Given the description of an element on the screen output the (x, y) to click on. 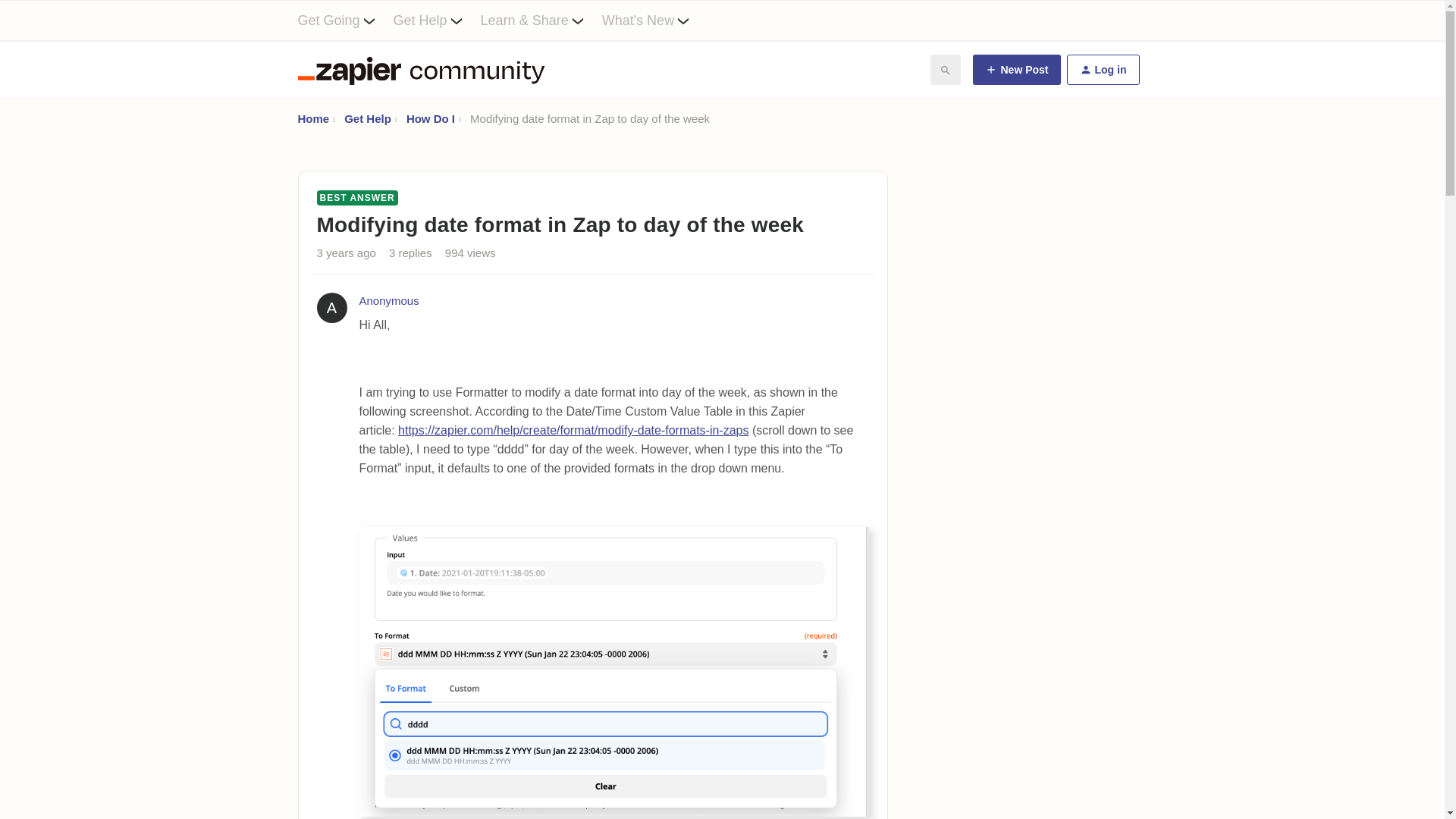
Log in (1101, 69)
Get Help (367, 118)
New Post (1015, 69)
New Post (1015, 69)
What's New (654, 20)
Get Help (436, 20)
Get Going (345, 20)
Home (313, 118)
